Given the description of an element on the screen output the (x, y) to click on. 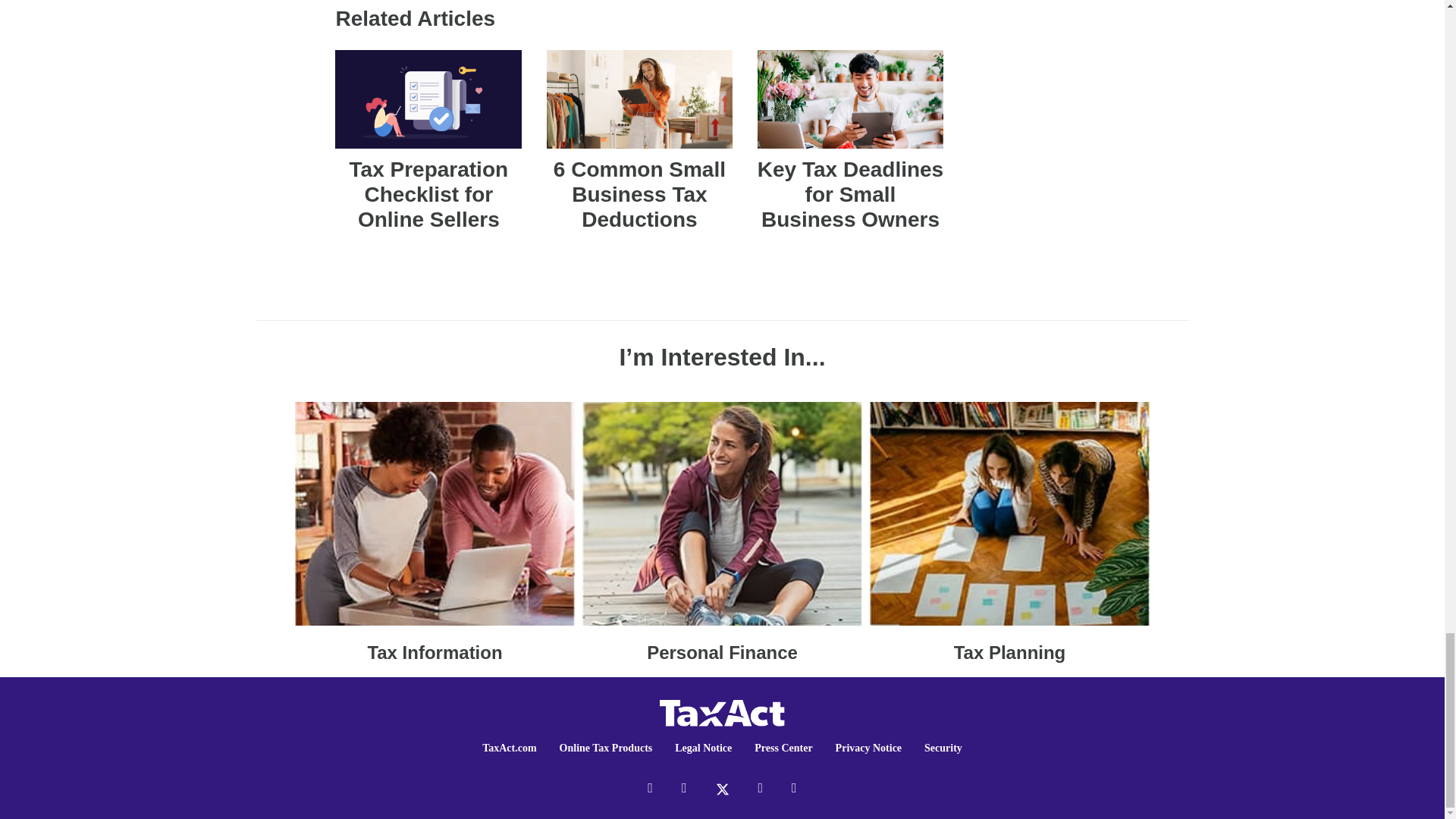
TaxAct Blog (721, 711)
Tax Information (435, 531)
TaxAct on Twitter (722, 787)
Impact of COVID-19 on Taxes (1009, 531)
Personal Finance (721, 531)
